Given the description of an element on the screen output the (x, y) to click on. 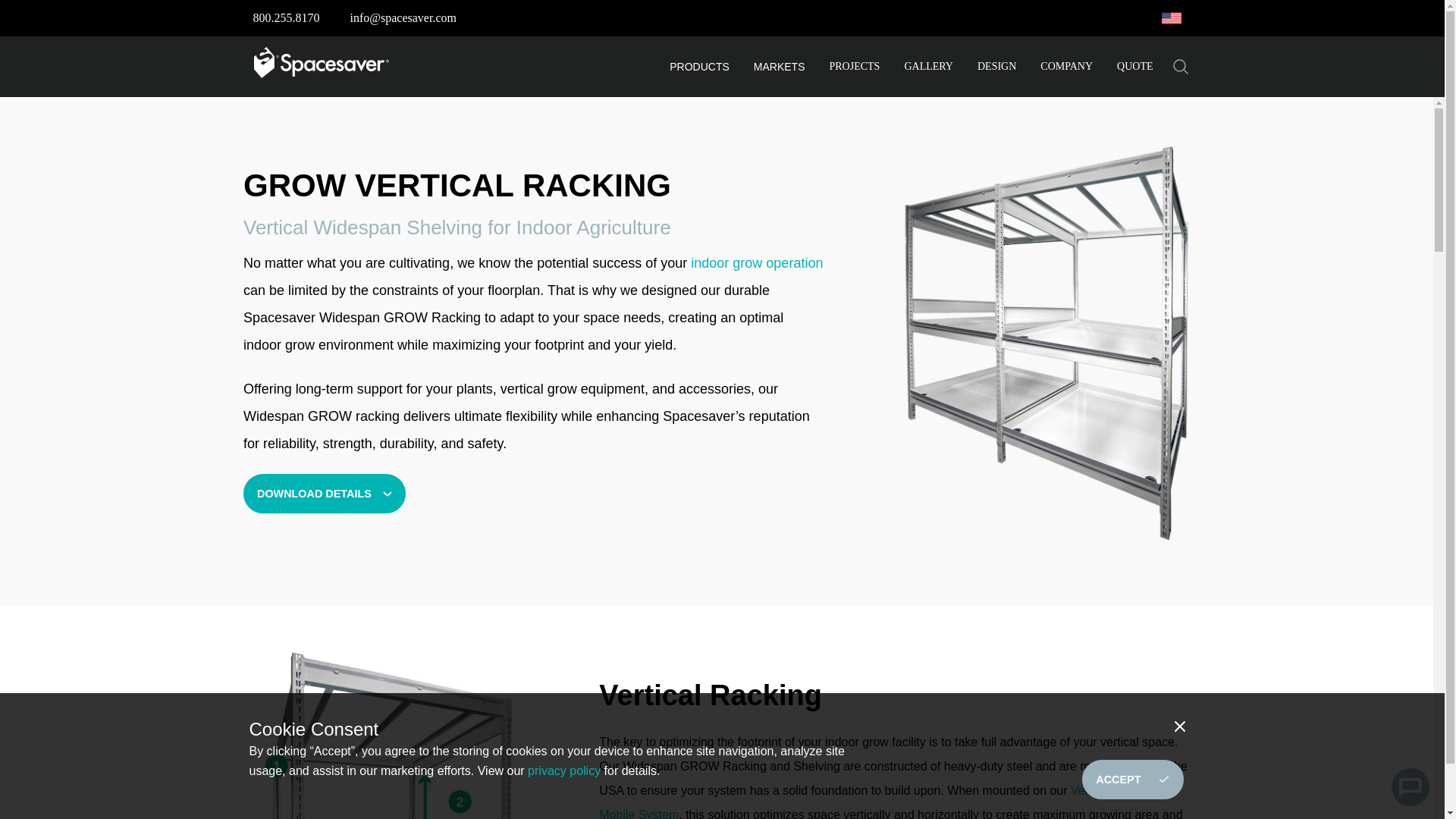
Search (1179, 66)
indoor grow operation (756, 263)
800.255.8170 (286, 17)
PRODUCTS (699, 66)
PROJECTS (854, 66)
DOWNLOAD DETAILS (324, 493)
MARKETS (779, 66)
GALLERY (928, 66)
Vertical GROW Mobile System (875, 801)
